Given the description of an element on the screen output the (x, y) to click on. 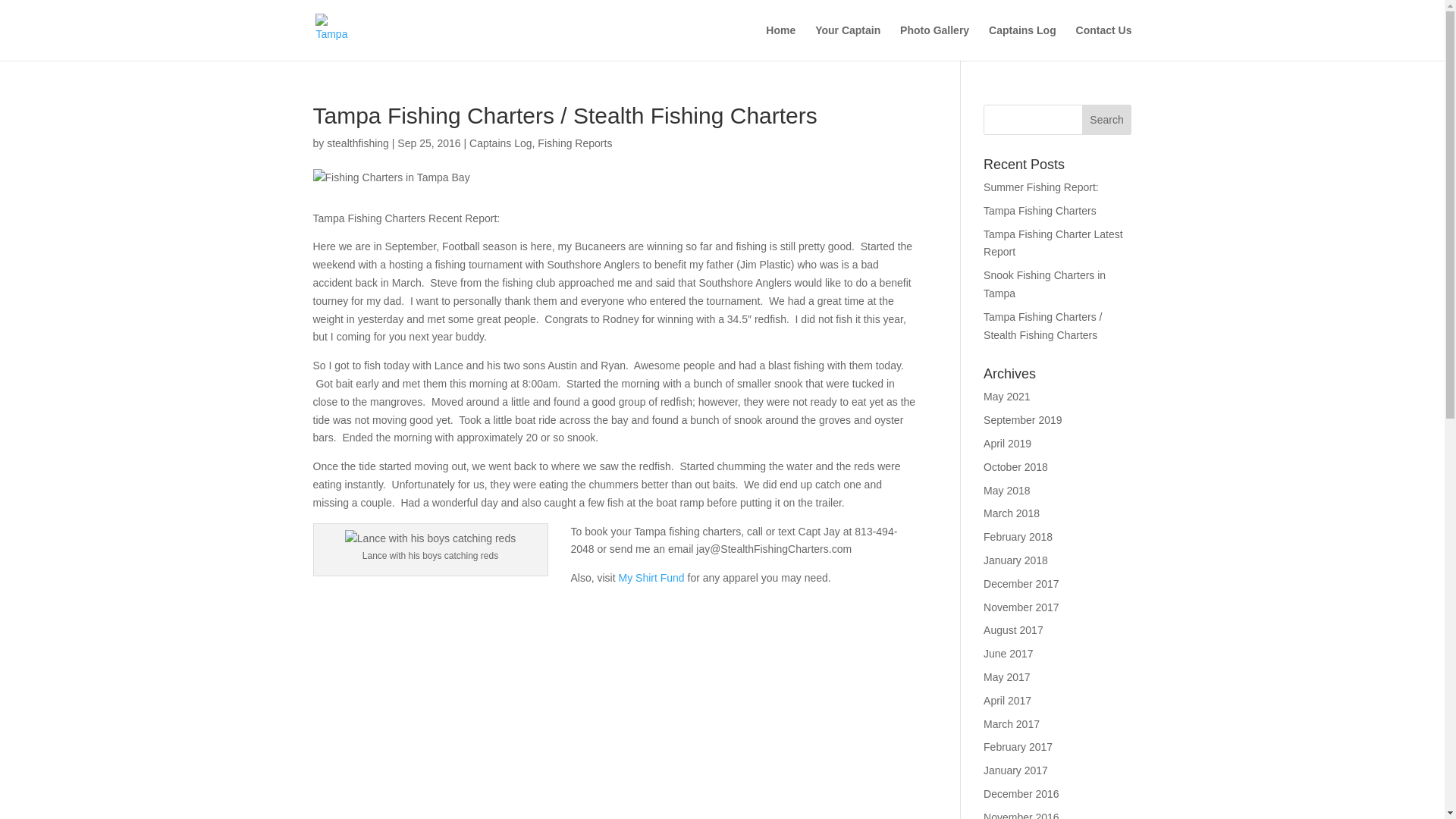
Summer Fishing Report: (1041, 186)
September 2019 (1023, 419)
November 2017 (1021, 607)
February 2017 (1018, 746)
January 2017 (1016, 770)
Tampa Fishing Charter Latest Report (1053, 243)
Captains Log (1022, 42)
August 2017 (1013, 630)
Tampa Fishing Charters (1040, 210)
Posts by stealthfishing (357, 143)
